Given the description of an element on the screen output the (x, y) to click on. 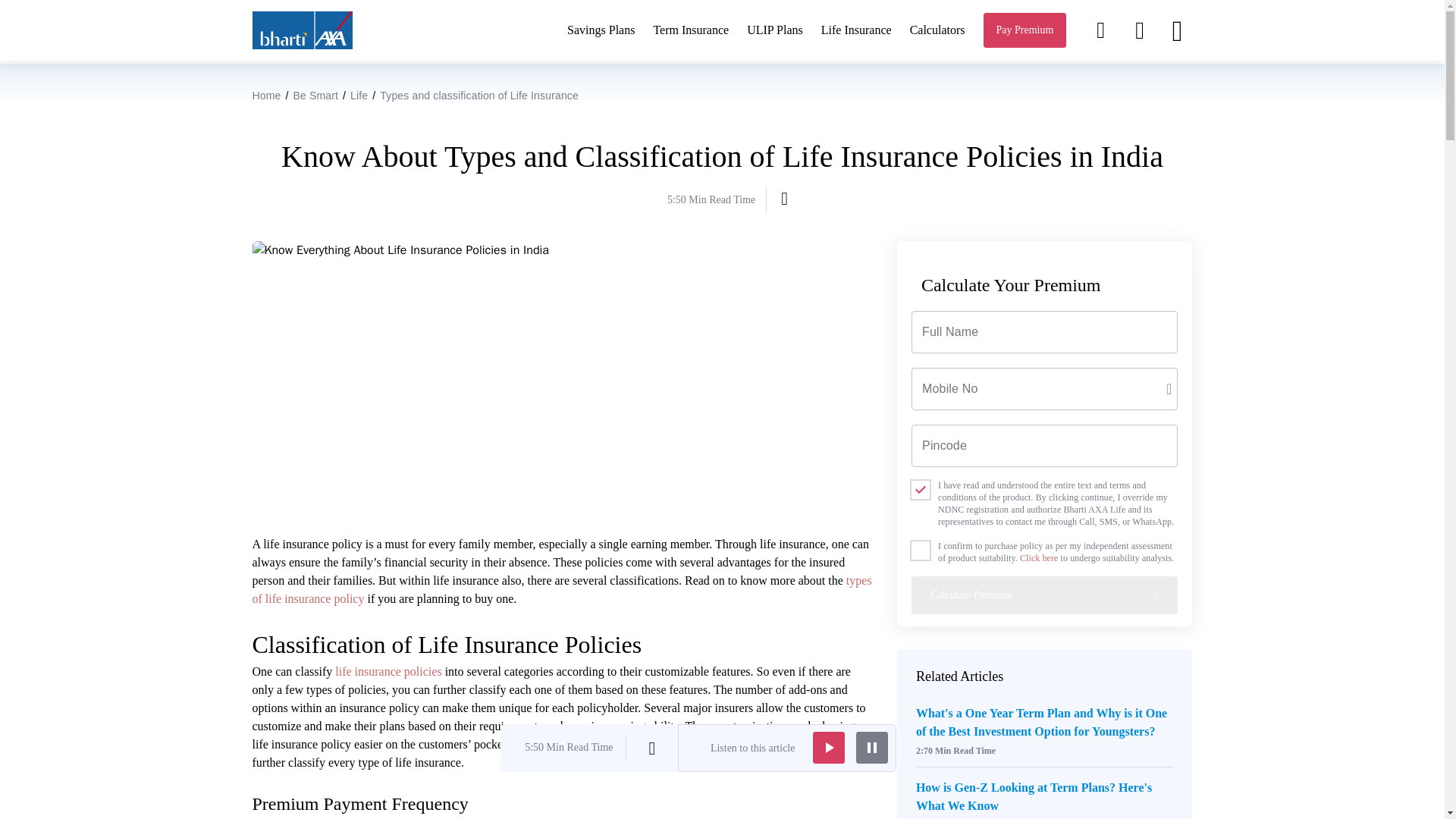
Life (359, 95)
online insurance (387, 671)
life insurance policies (387, 671)
Pay Premium (1025, 30)
Home (266, 95)
ULIP Plans (774, 30)
Life Insurance (856, 30)
Be Smart (314, 95)
types of life insurance policy (560, 589)
